Given the description of an element on the screen output the (x, y) to click on. 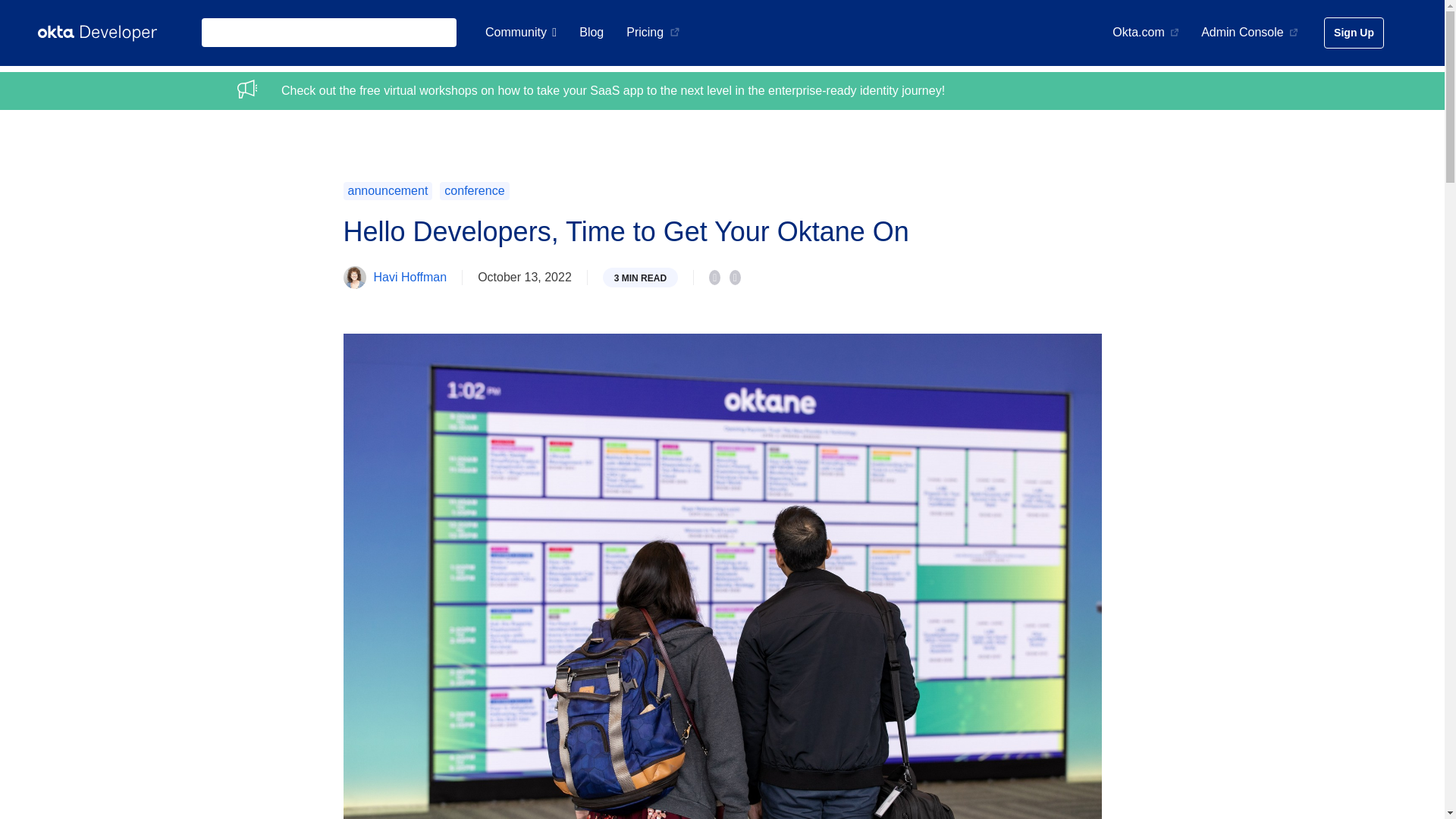
Sign Up (1353, 32)
conference (473, 190)
announcement (387, 190)
Pricing (652, 31)
Blog (591, 31)
Okta.com (1144, 31)
Havi Hoffman (409, 277)
Admin Console (1249, 31)
conference (473, 190)
announcement (387, 190)
